Given the description of an element on the screen output the (x, y) to click on. 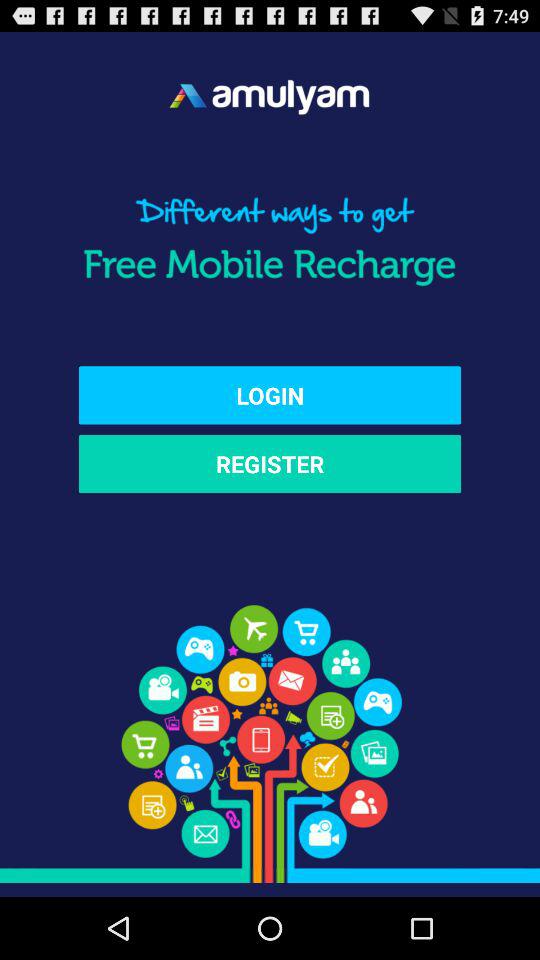
launch the button below the login item (269, 464)
